Given the description of an element on the screen output the (x, y) to click on. 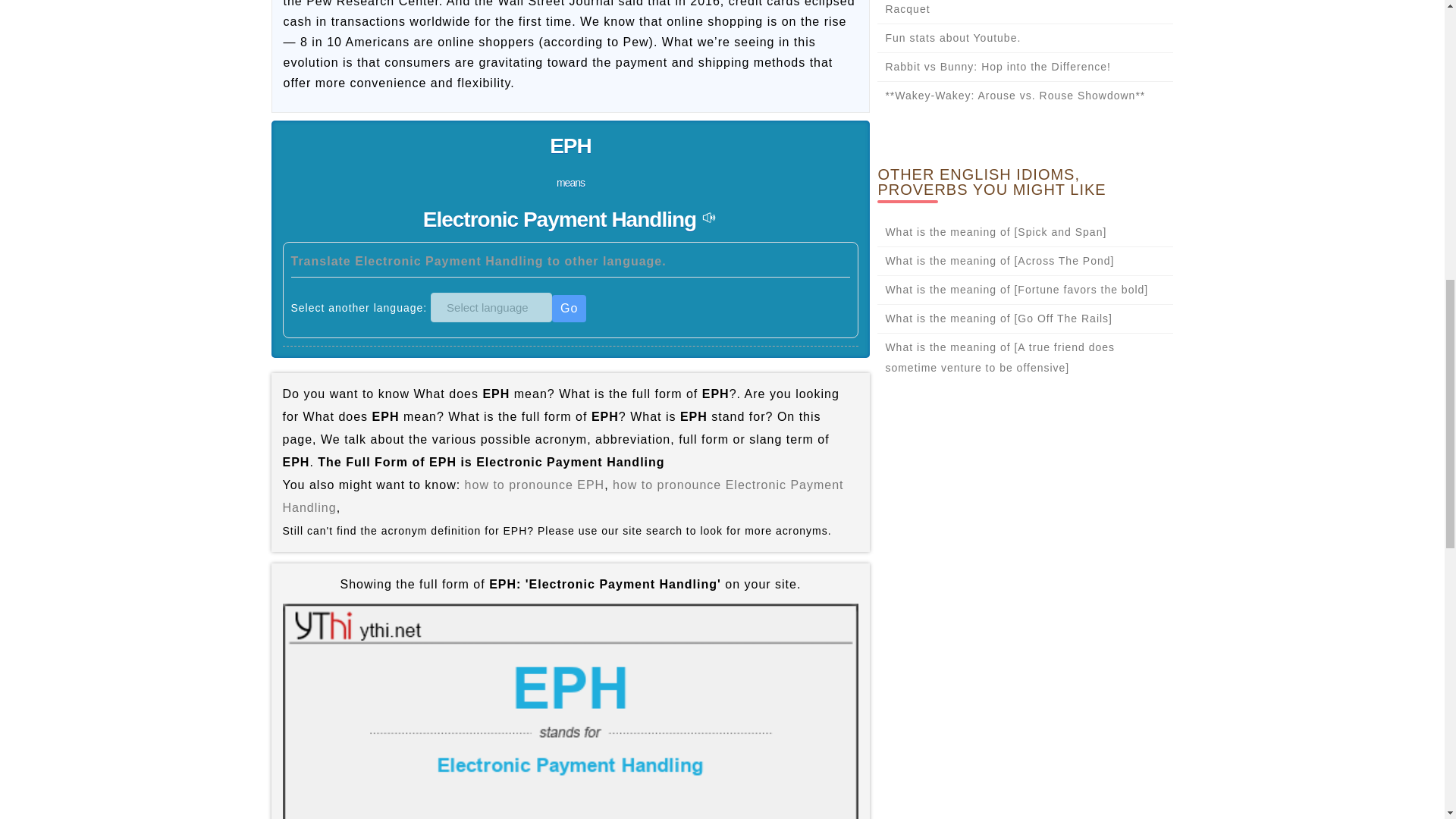
how to pronounce EPH (534, 484)
how to pronounce Electronic Payment Handling (708, 217)
how to pronounce Electronic Payment Handling (562, 496)
What does EPH mean? What is the full form of EPH? (570, 711)
how to pronounce EPH (534, 484)
Go (568, 308)
how to pronounce Electronic Payment Handling (562, 496)
